Given the description of an element on the screen output the (x, y) to click on. 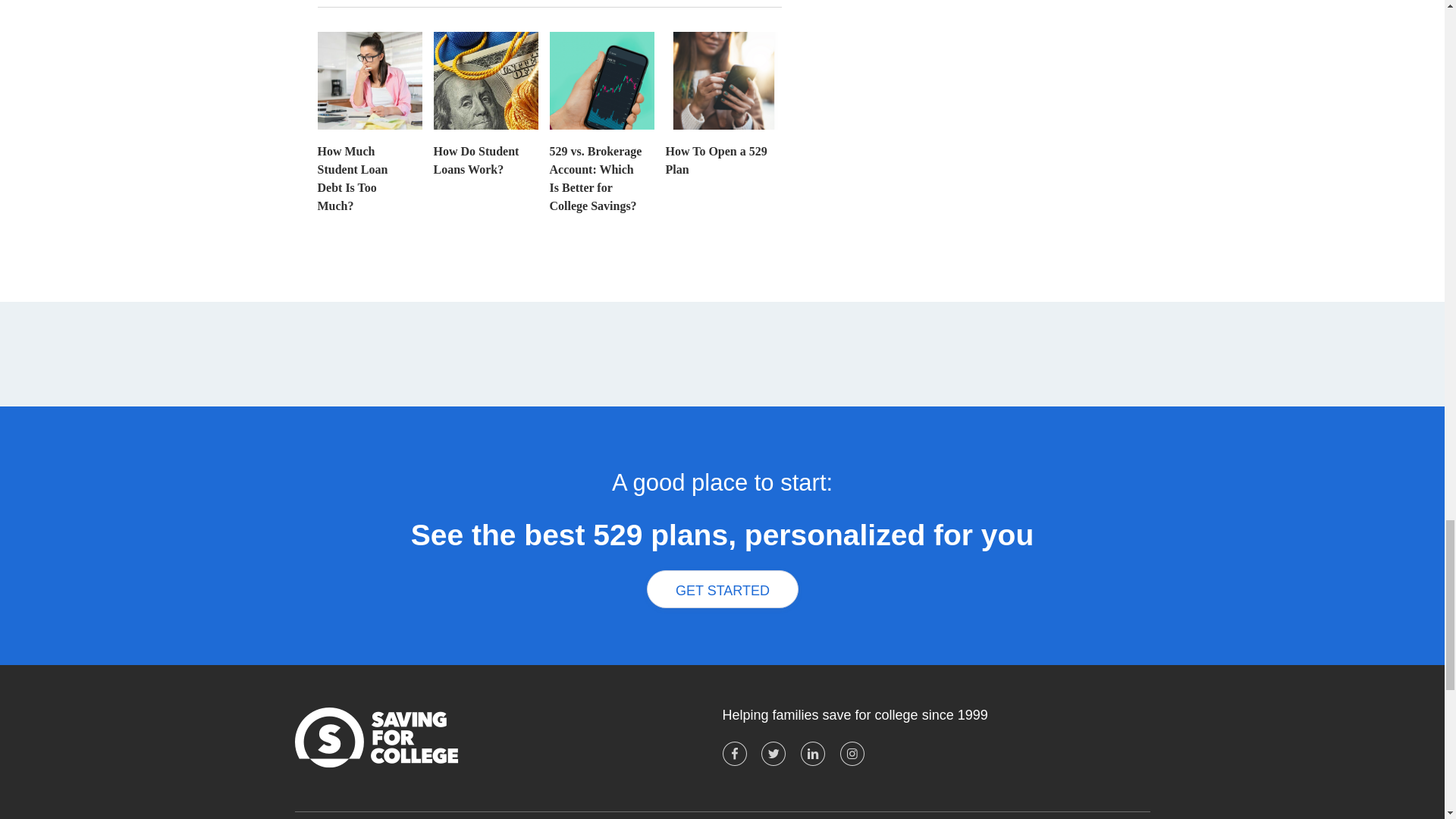
How Much Student Loan Debt Is Too Much? (369, 170)
How Do Student Loans Work? (485, 152)
